Given the description of an element on the screen output the (x, y) to click on. 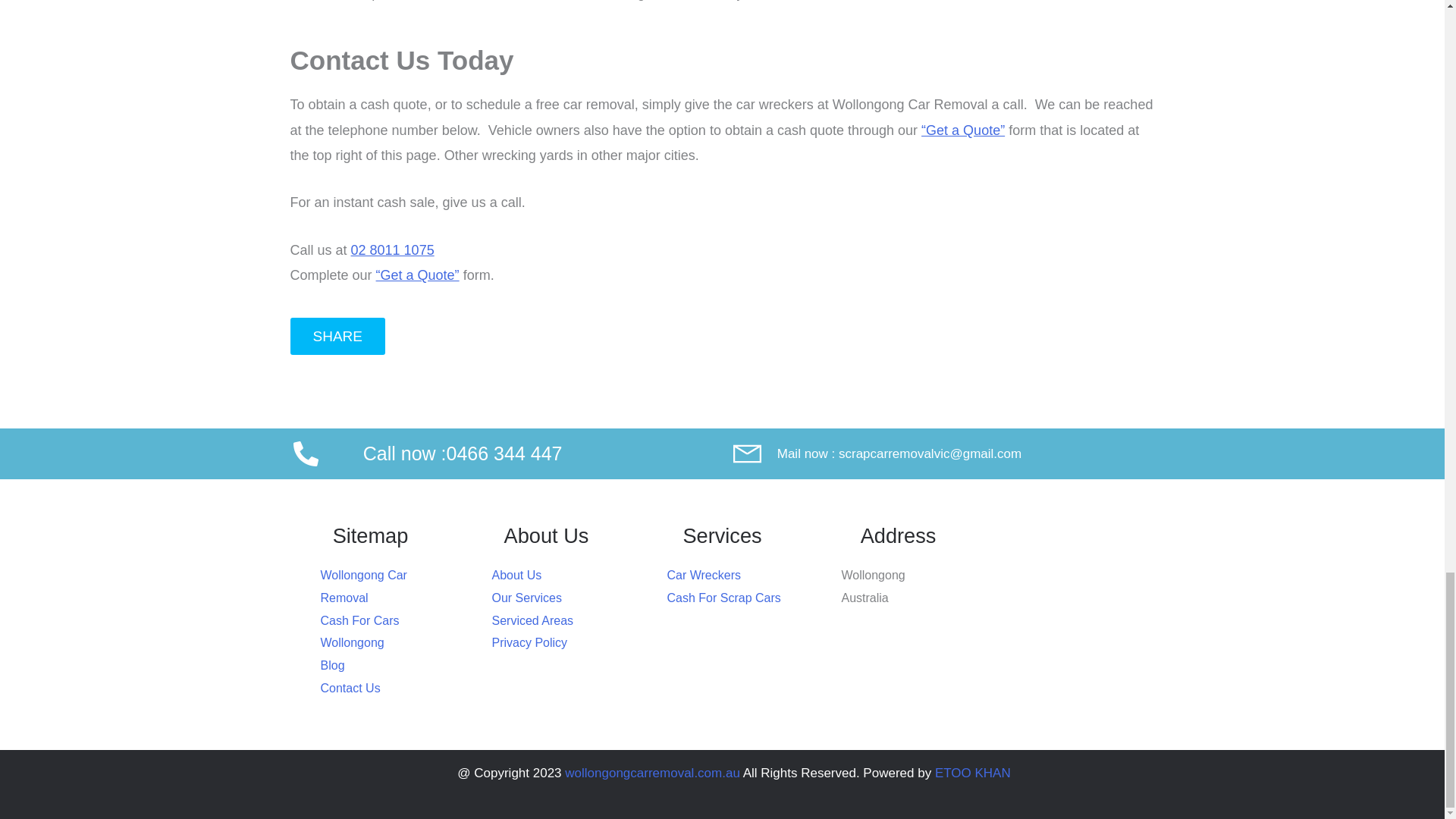
02 8011 1075 (391, 249)
Contact Us (417, 274)
Serviced Areas (559, 620)
02 8011 1075 (391, 249)
Privacy Policy (559, 642)
wollongongcarremoval.com.au (651, 772)
Car Wreckers (734, 575)
About Us (559, 575)
Cash For Cars Wollongong (384, 631)
ETOO KHAN (972, 772)
Wollongong Car Removal (384, 586)
SHARE (336, 335)
Contact Us (384, 688)
Our Services (559, 598)
Contact Us (962, 130)
